Given the description of an element on the screen output the (x, y) to click on. 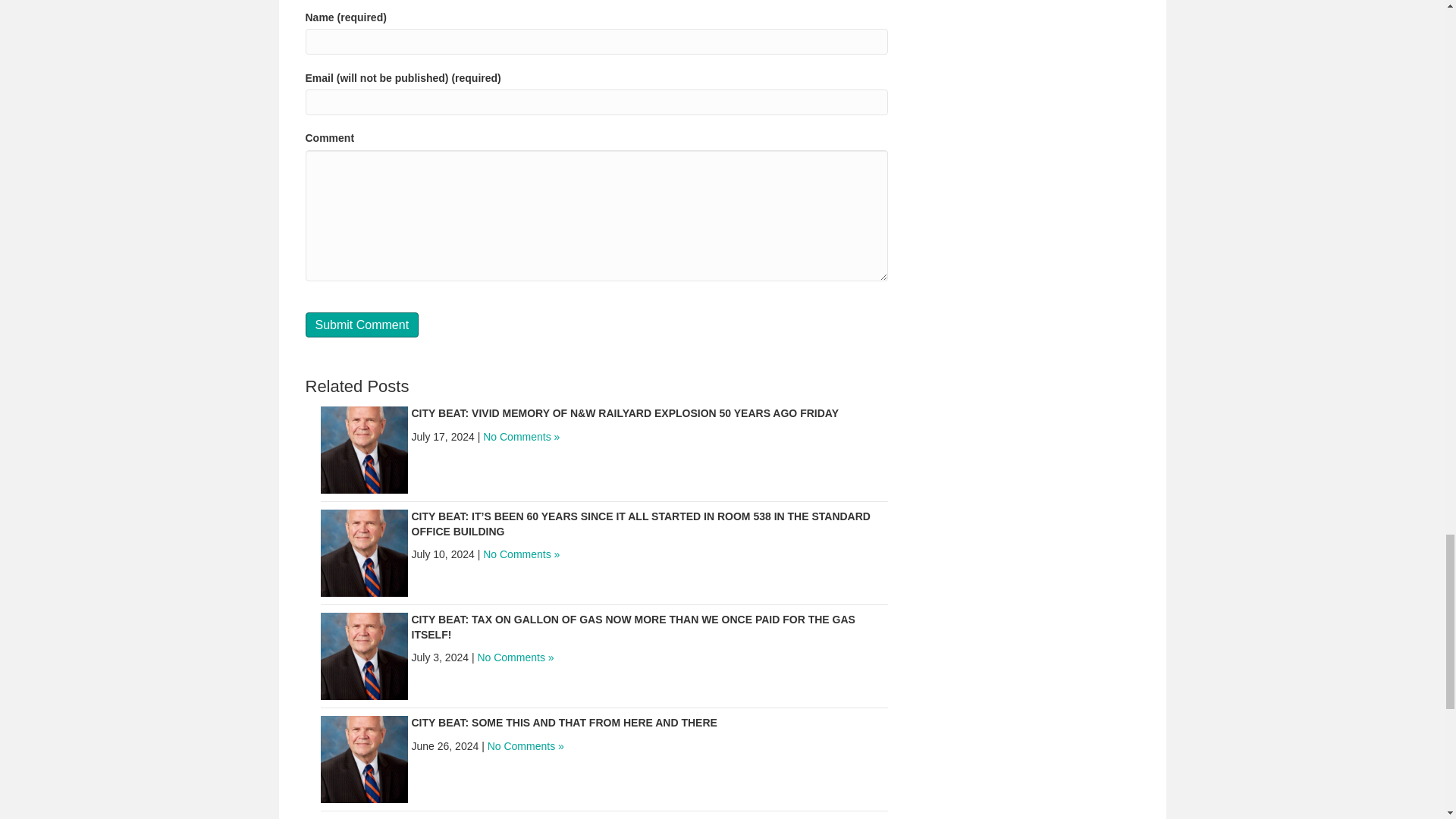
CITY BEAT: SOME THIS AND THAT FROM HERE AND THERE (363, 758)
Submit Comment (361, 324)
CITY BEAT: SOME THIS AND THAT FROM HERE AND THERE (563, 722)
Submit Comment (361, 324)
